Given the description of an element on the screen output the (x, y) to click on. 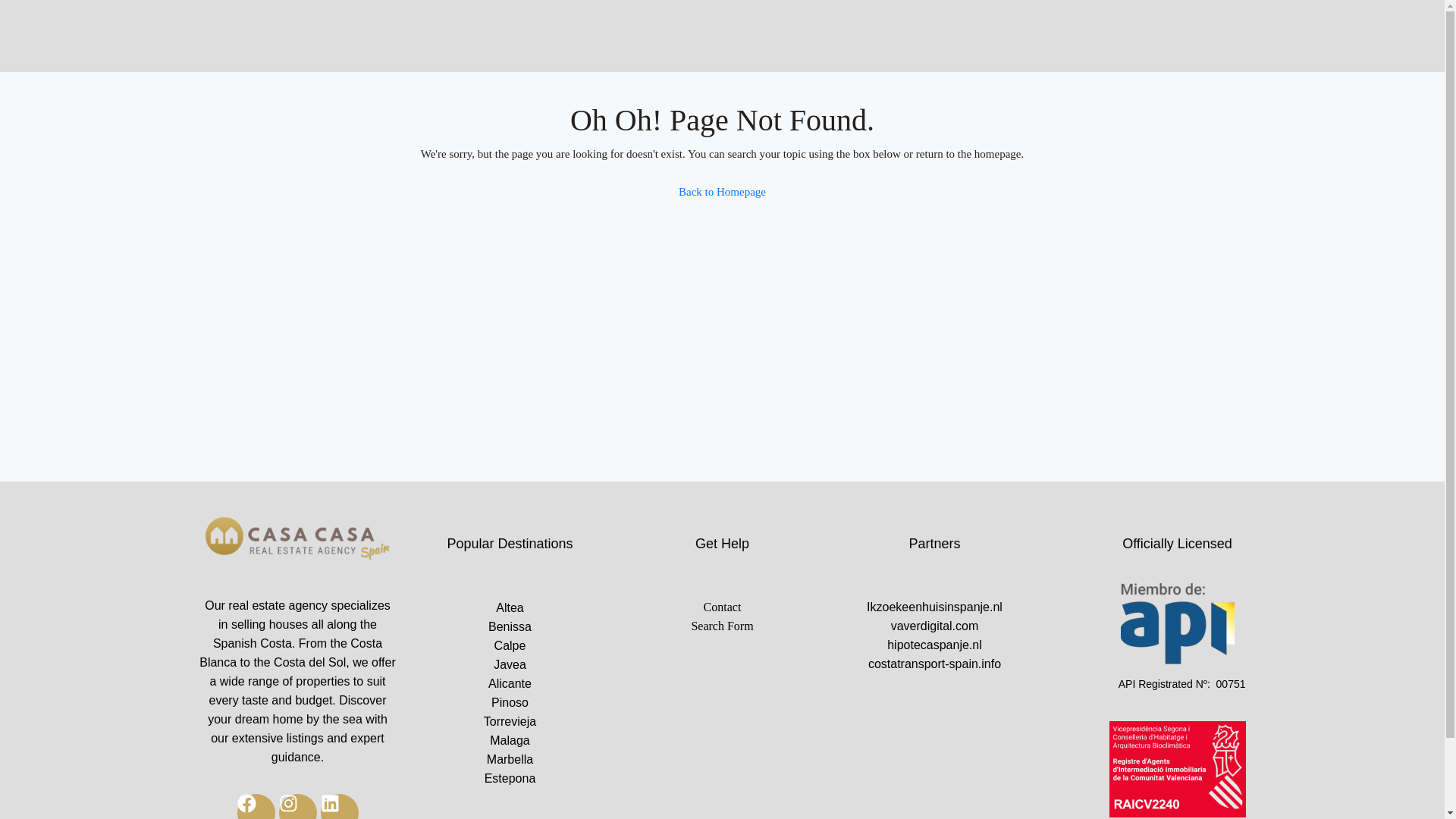
Benissa (509, 626)
hipotecaspanje.nl (933, 644)
costatransport-spain.info (933, 663)
Estepona (509, 778)
Ikzoekeenhuisinspanje.nl (933, 606)
Alicante (509, 683)
Back to Homepage (721, 192)
Torrevieja (509, 721)
CASA CASA REAL ESTATE TRANSPA (297, 539)
Altea (509, 607)
Contact (722, 606)
Marbella (509, 759)
vaverdigital.com (933, 625)
Malaga (509, 740)
Search Form (722, 625)
